Given the description of an element on the screen output the (x, y) to click on. 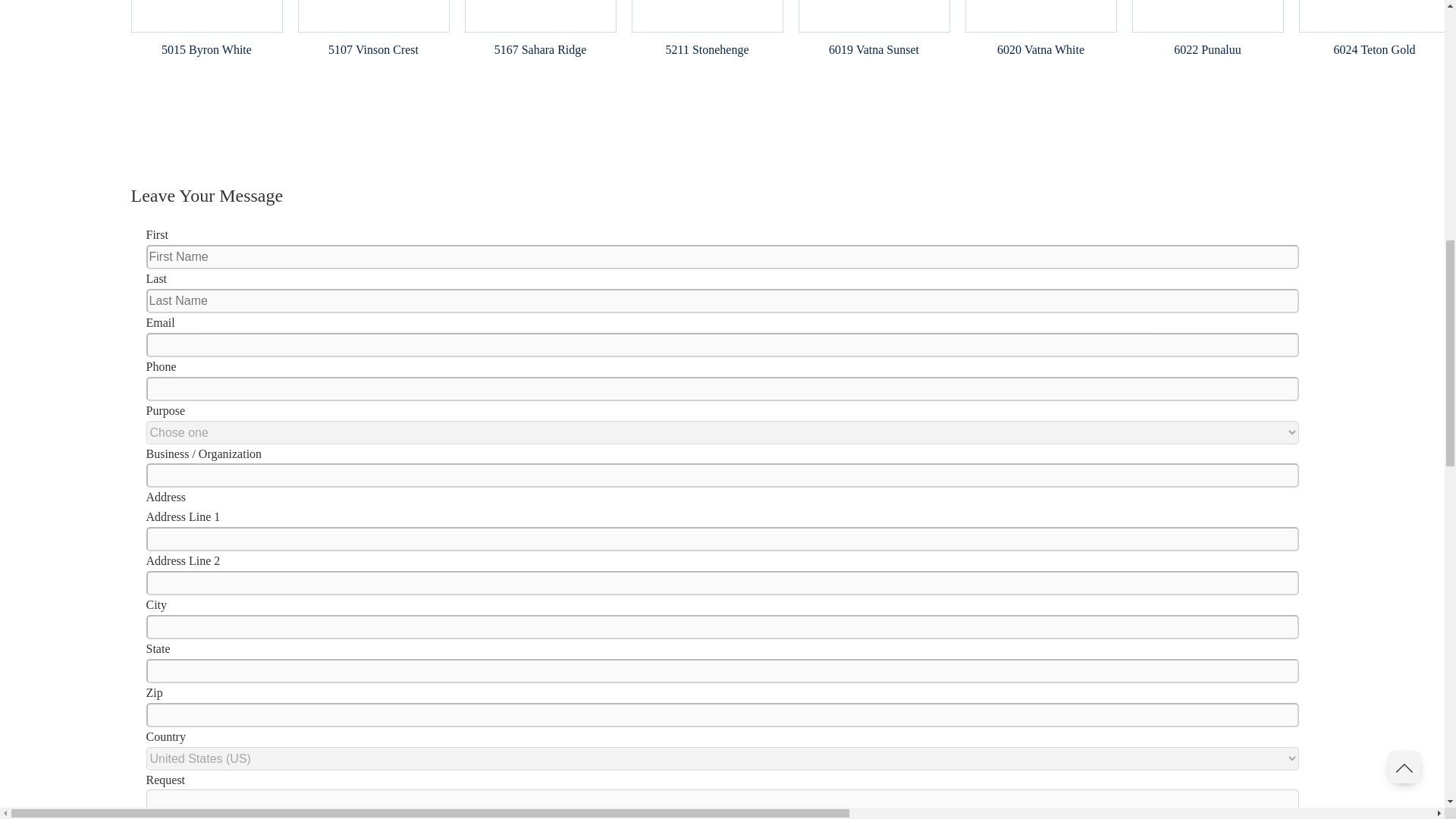
FEATURED (372, 16)
5015 Byron White (206, 49)
FEATURED (206, 16)
5107 Vinson Crest (374, 49)
